Given the description of an element on the screen output the (x, y) to click on. 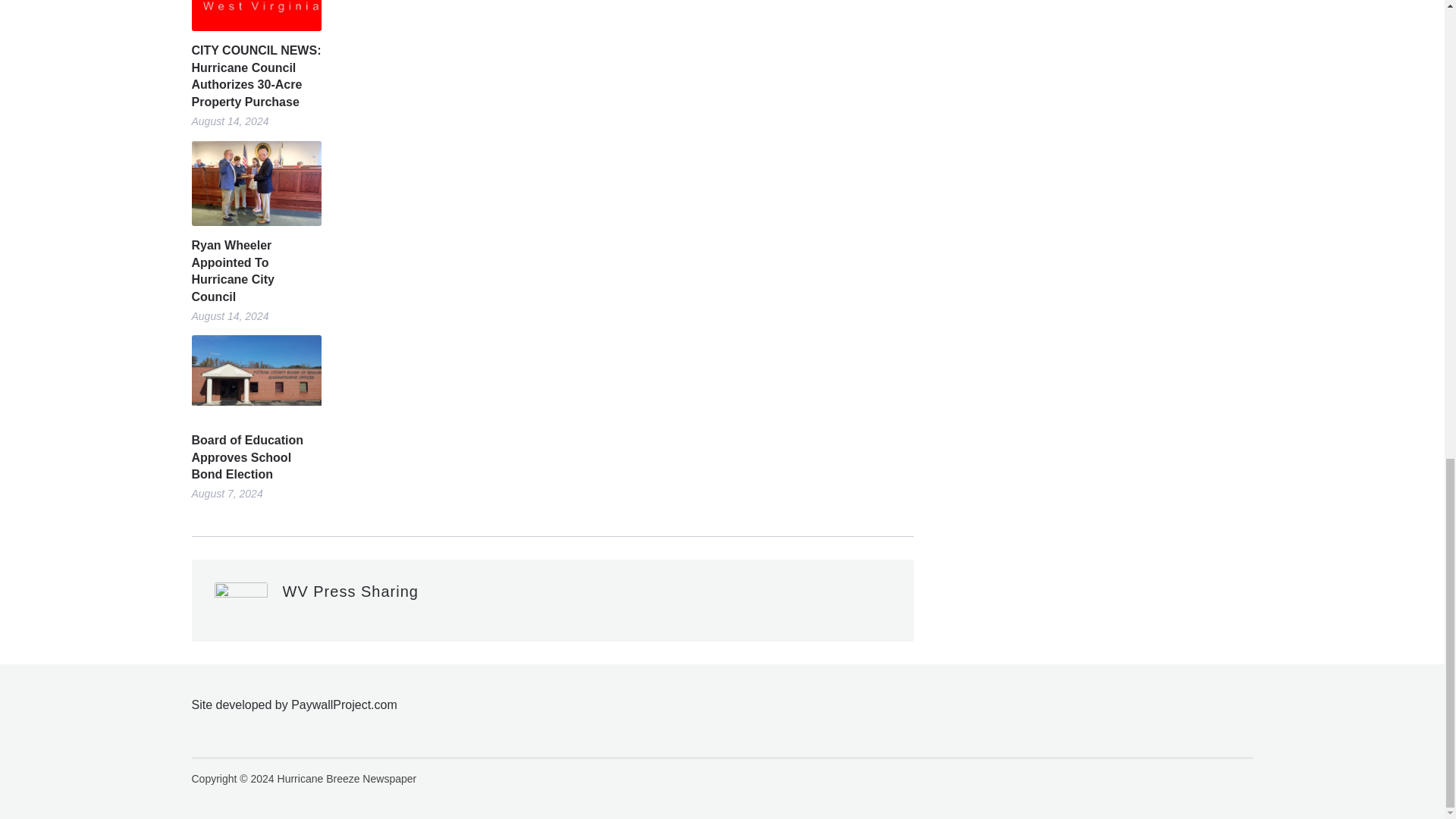
Ryan Wheeler Appointed To Hurricane City Council (255, 271)
Posts by WV Press Sharing (349, 591)
Board of Education Approves School Bond Election (255, 457)
